Given the description of an element on the screen output the (x, y) to click on. 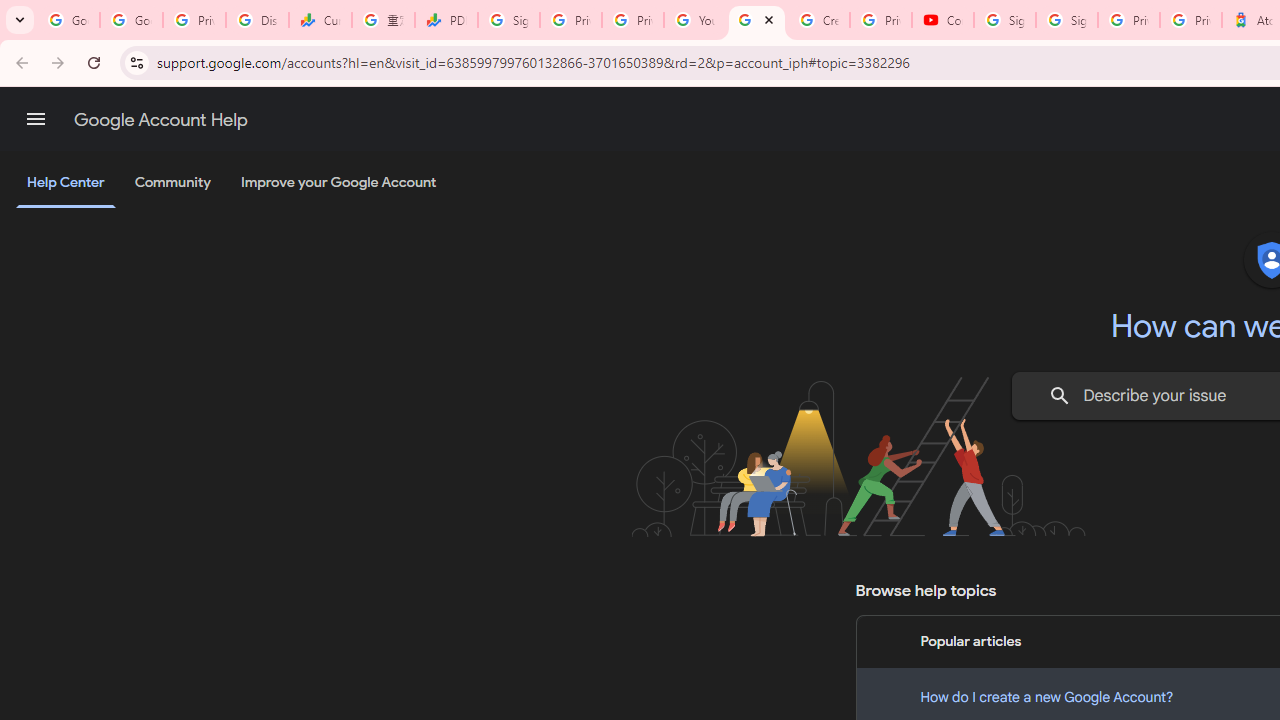
Privacy Checkup (632, 20)
YouTube (694, 20)
Content Creator Programs & Opportunities - YouTube Creators (942, 20)
Improve your Google Account (339, 183)
PDD Holdings Inc - ADR (PDD) Price & News - Google Finance (445, 20)
